Given the description of an element on the screen output the (x, y) to click on. 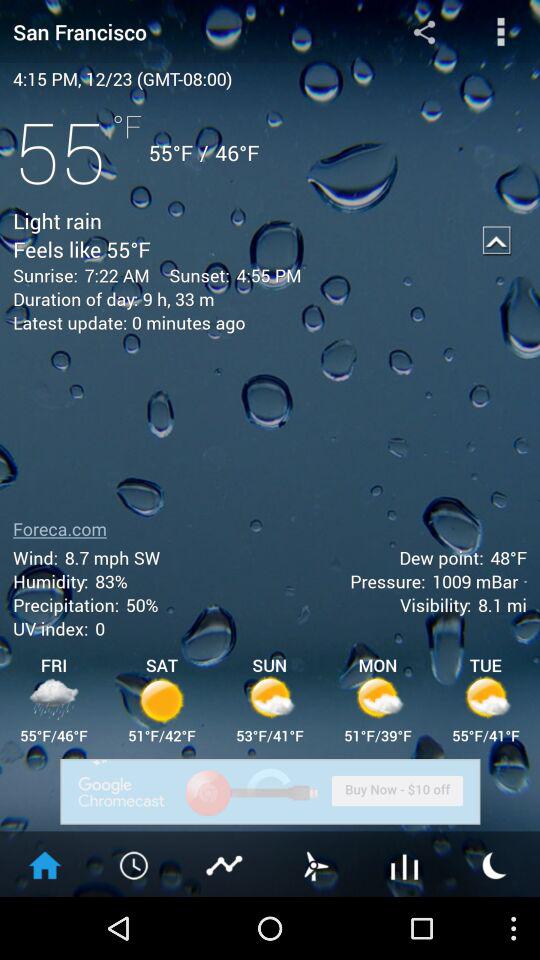
buy now (270, 791)
